Given the description of an element on the screen output the (x, y) to click on. 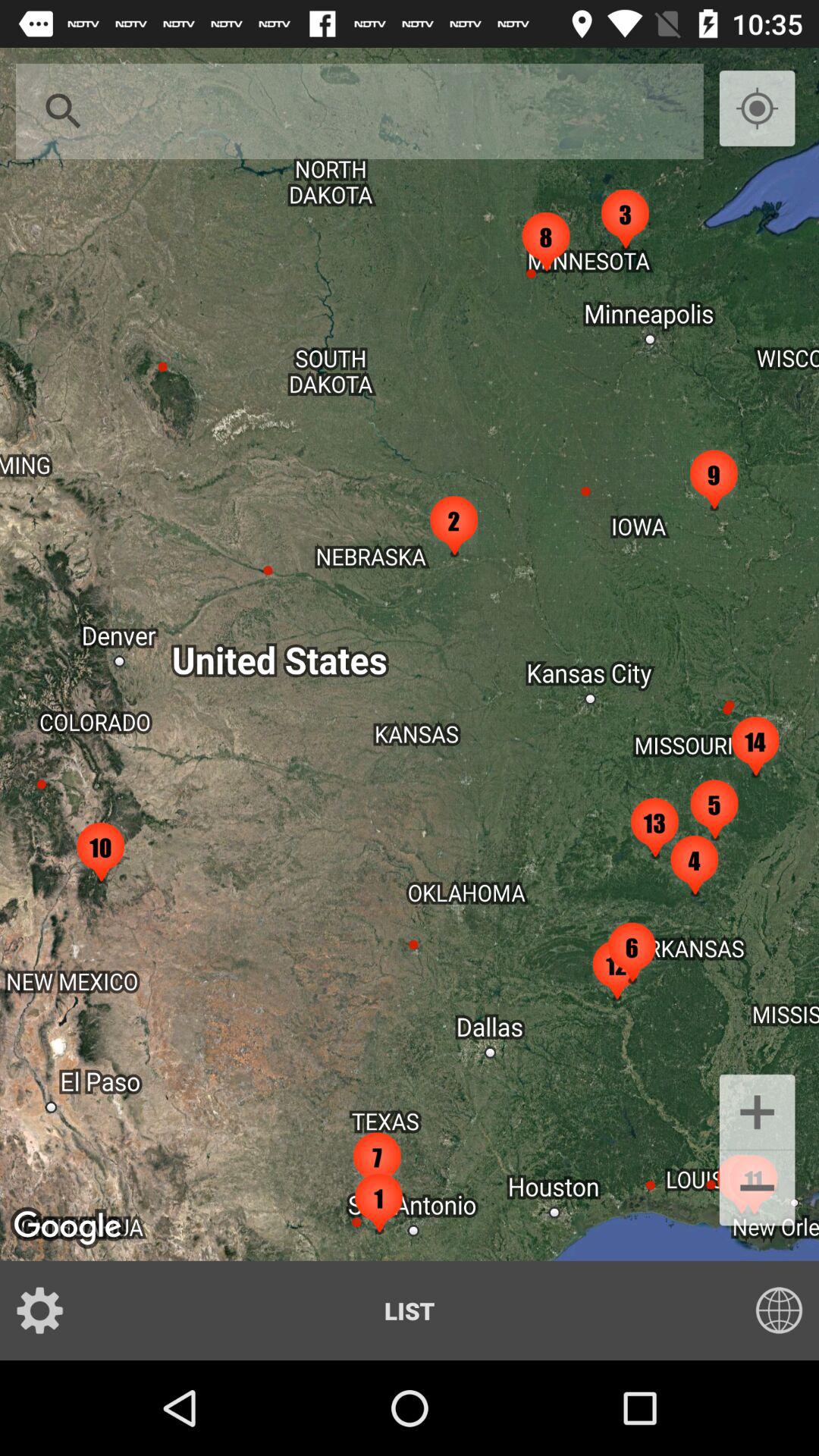
choose button above list button (757, 1190)
